Given the description of an element on the screen output the (x, y) to click on. 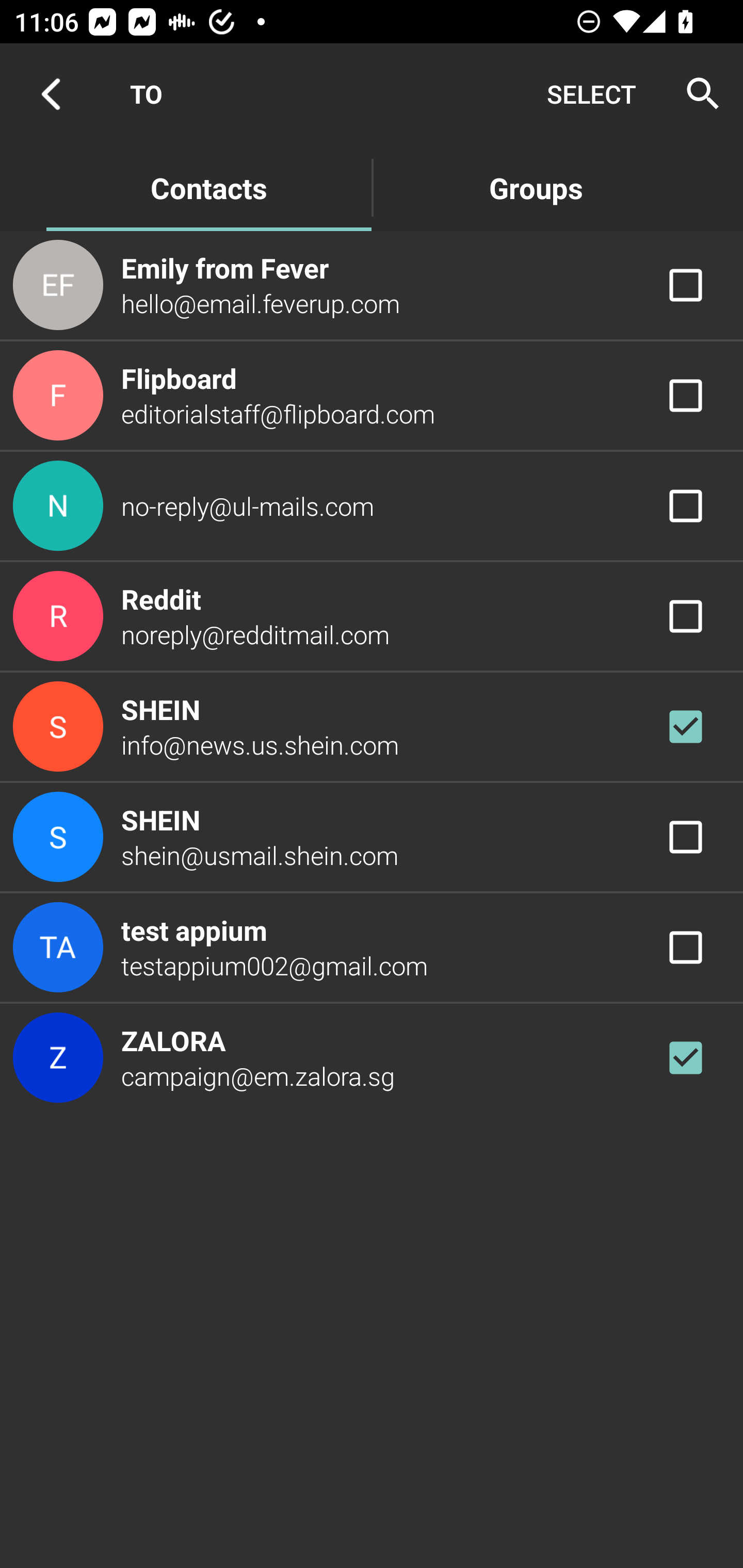
Navigate up (50, 93)
SELECT (590, 93)
Search (696, 93)
Contacts (208, 187)
Groups (535, 187)
Emily from Fever hello@email.feverup.com (371, 284)
Flipboard editorialstaff@flipboard.com (371, 395)
no-reply@ul-mails.com (371, 505)
Reddit noreply@redditmail.com (371, 616)
SHEIN info@news.us.shein.com (371, 726)
SHEIN shein@usmail.shein.com (371, 836)
test appium testappium002@gmail.com (371, 947)
ZALORA campaign@em.zalora.sg (371, 1057)
